Given the description of an element on the screen output the (x, y) to click on. 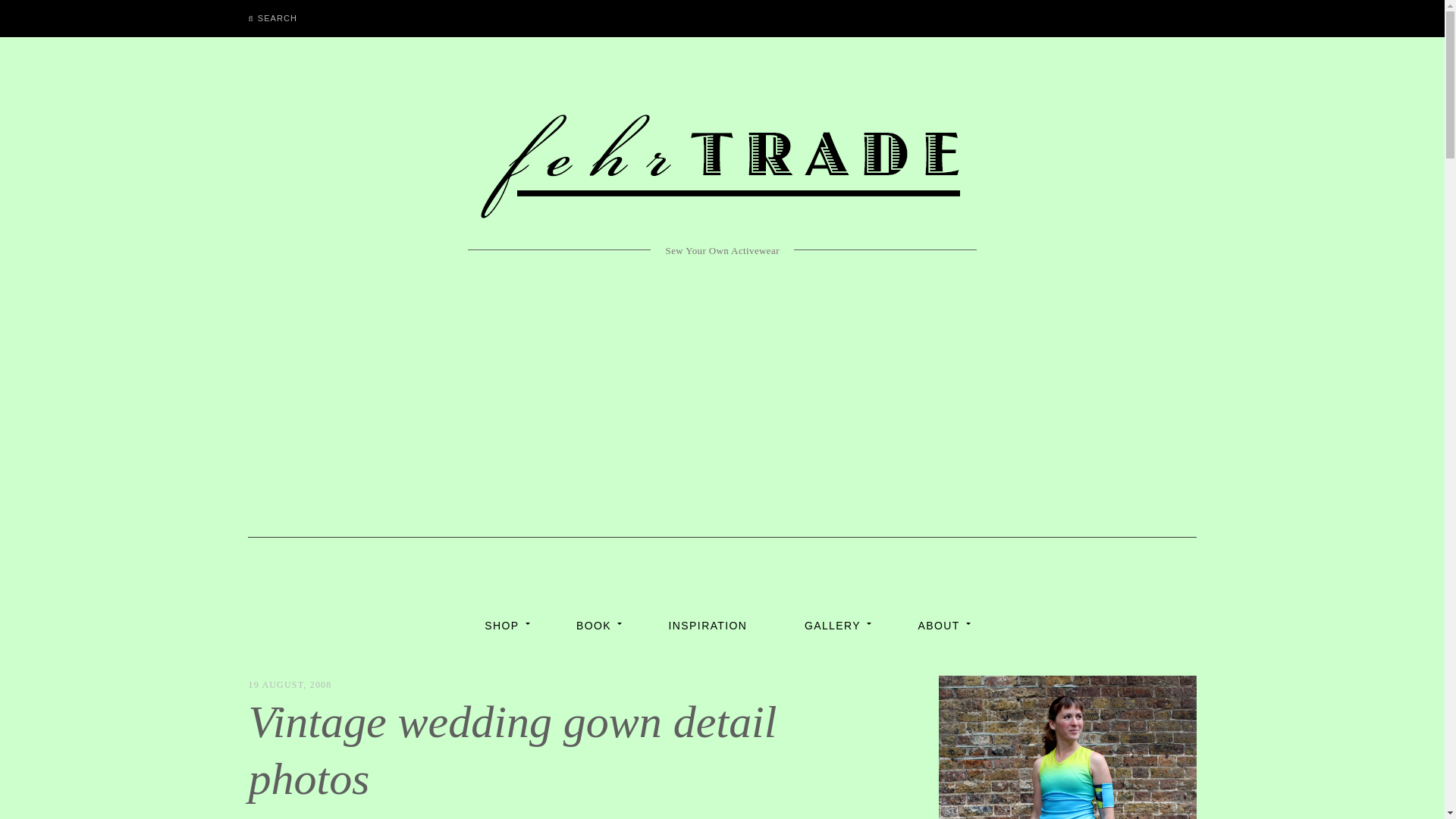
SEARCH (271, 18)
19 AUGUST, 2008 (289, 684)
GALLERY (832, 625)
BOOK (593, 625)
SHOP (501, 625)
INSPIRATION (708, 625)
ABOUT (939, 625)
